Given the description of an element on the screen output the (x, y) to click on. 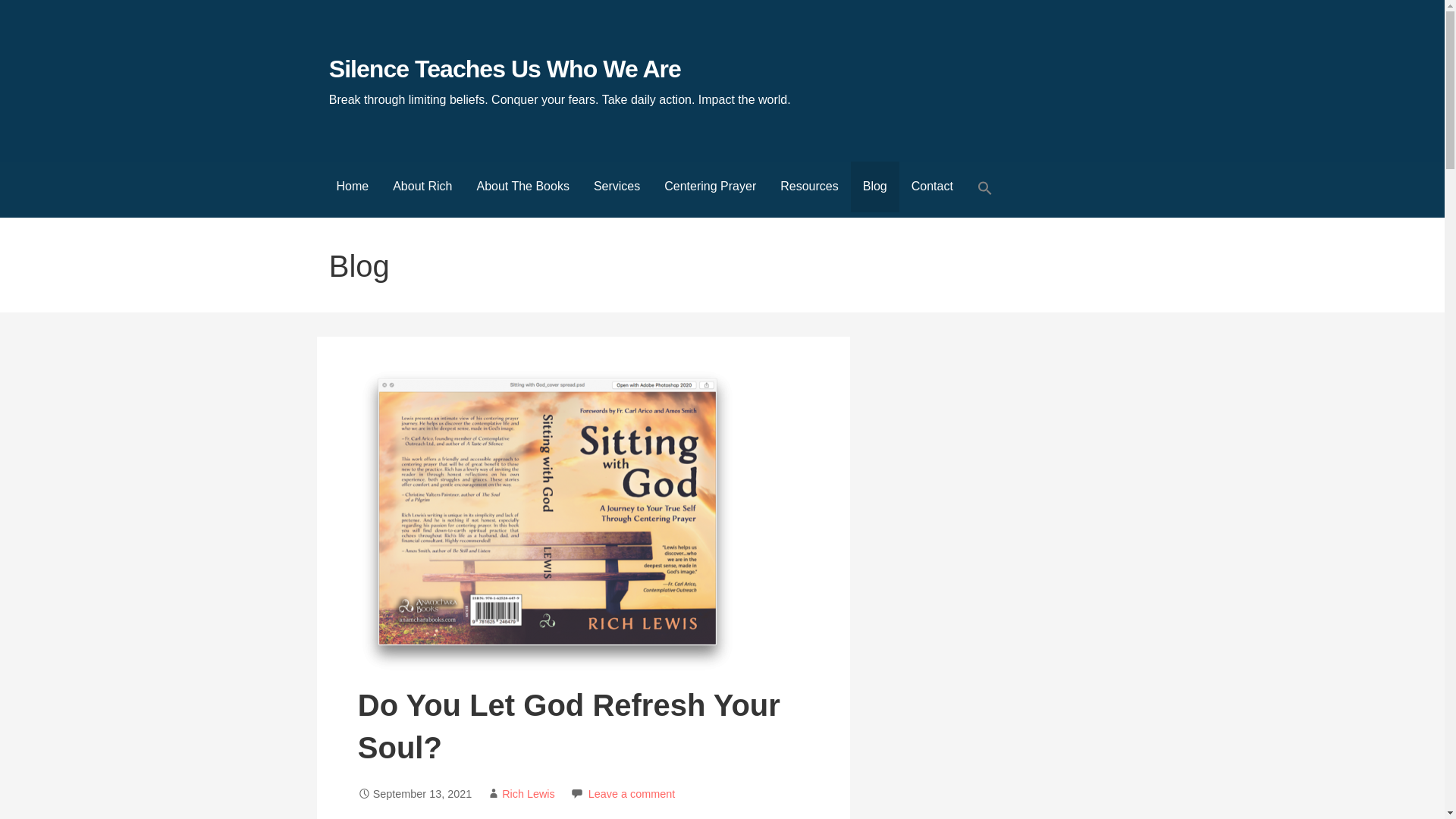
Silence Teaches Us Who We Are (505, 68)
About The Books (522, 186)
Leave a comment (631, 793)
Posts by Rich Lewis (528, 793)
Blog (874, 186)
About Rich (422, 186)
Rich Lewis (528, 793)
Home (352, 186)
Centering Prayer (710, 186)
Services (616, 186)
